Given the description of an element on the screen output the (x, y) to click on. 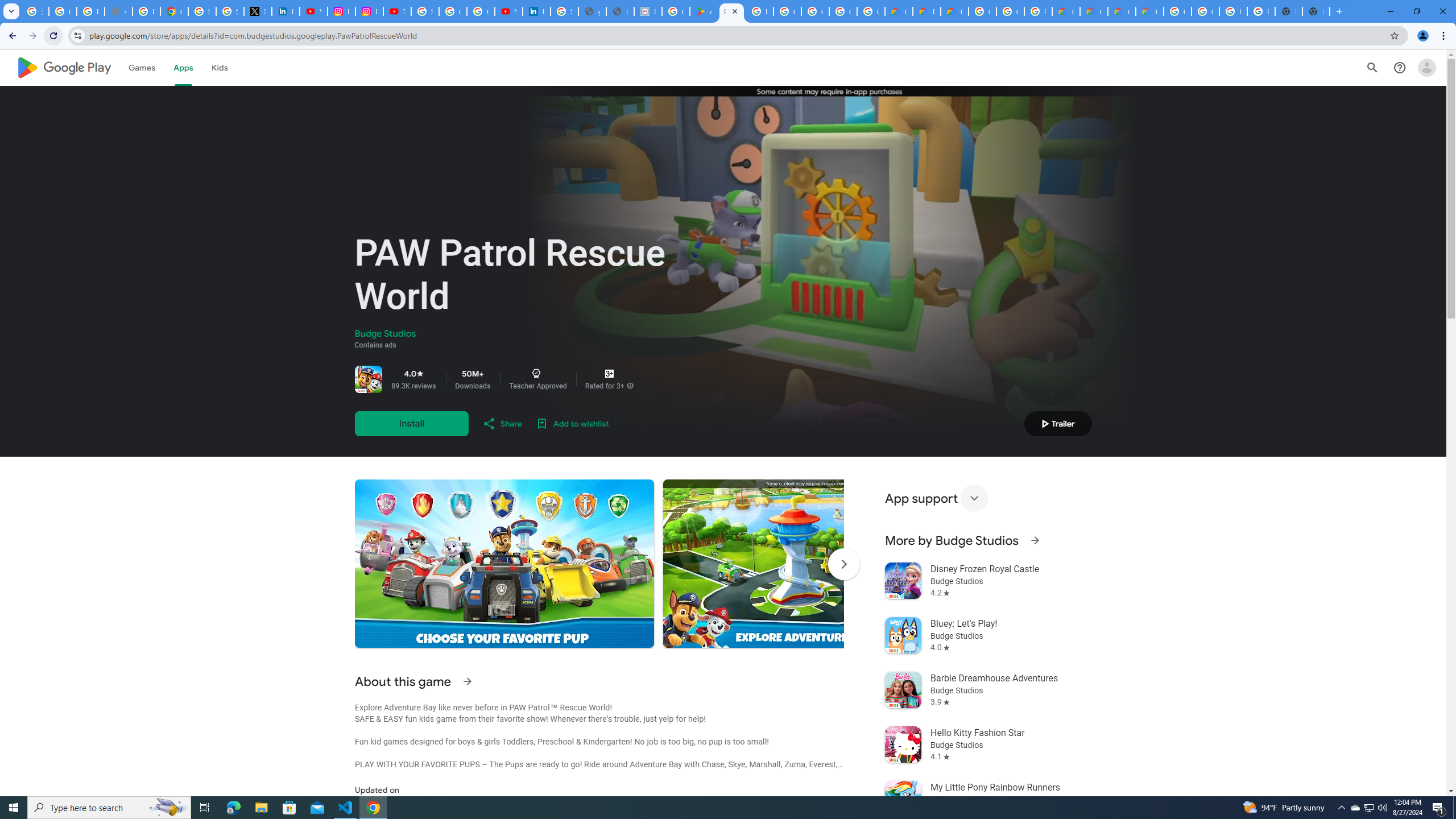
Play trailer (1058, 423)
Expand (973, 497)
More info about this content rating (630, 385)
LinkedIn Privacy Policy (285, 11)
New Tab (1316, 11)
